Given the description of an element on the screen output the (x, y) to click on. 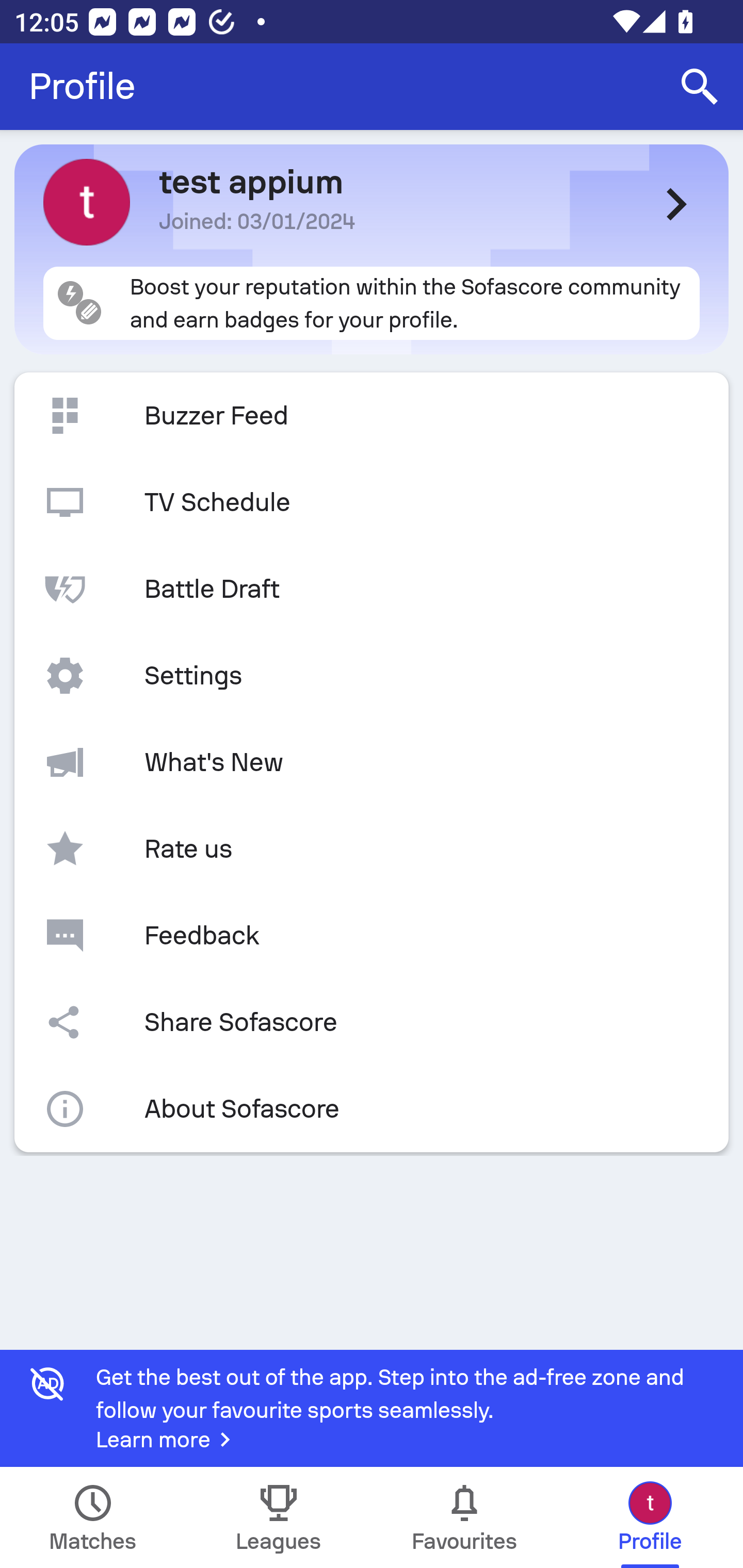
Profile (81, 86)
Search (699, 86)
Buzzer Feed (371, 416)
TV Schedule (371, 502)
Battle Draft (371, 588)
Settings (371, 675)
What's New (371, 762)
Rate us (371, 848)
Feedback (371, 935)
Share Sofascore (371, 1022)
About Sofascore (371, 1109)
Matches (92, 1517)
Leagues (278, 1517)
Favourites (464, 1517)
